Given the description of an element on the screen output the (x, y) to click on. 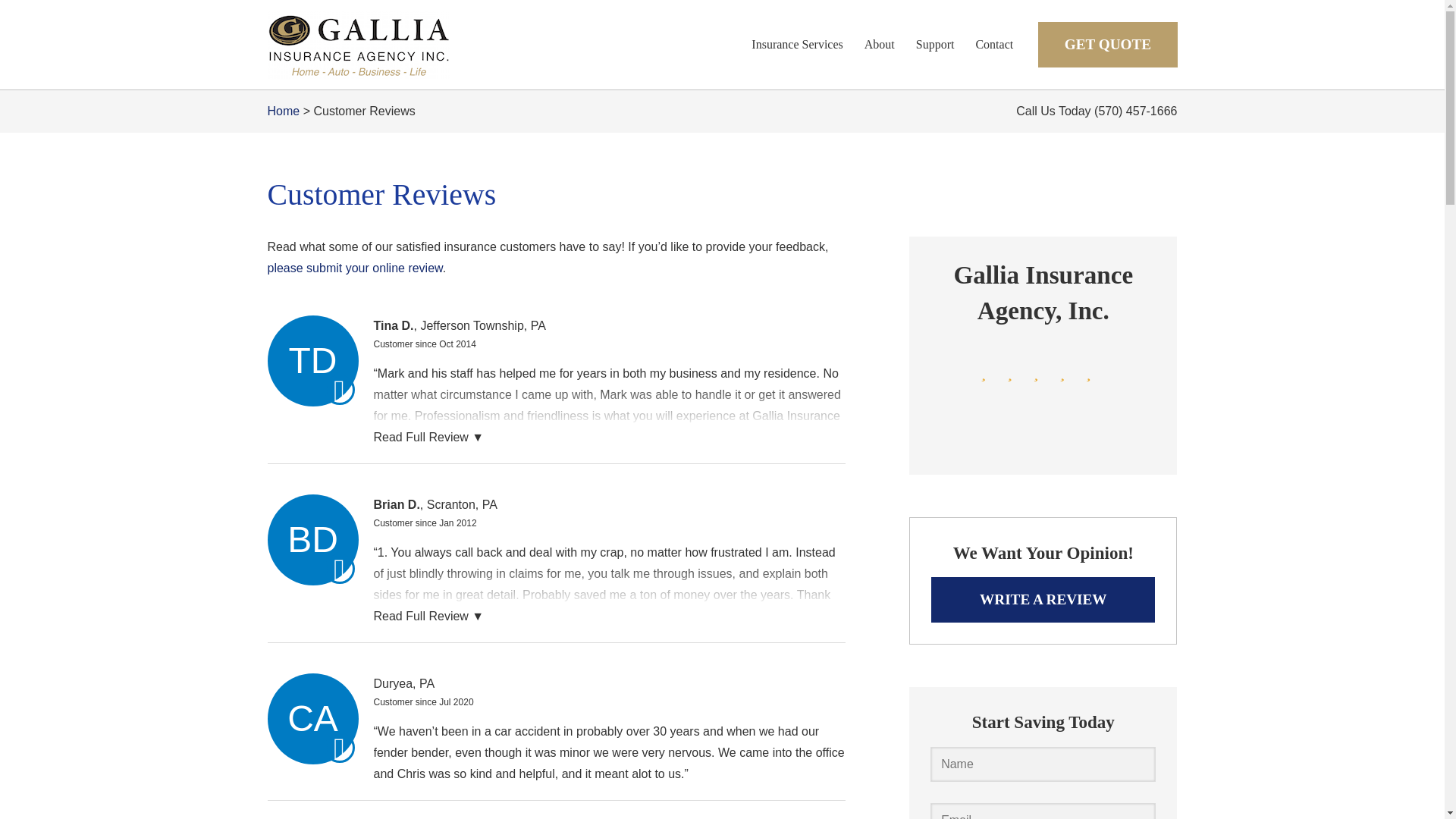
Insurance Services (797, 44)
Support (935, 44)
Gallia Logo (357, 44)
Home Page (411, 44)
About (879, 44)
